Given the description of an element on the screen output the (x, y) to click on. 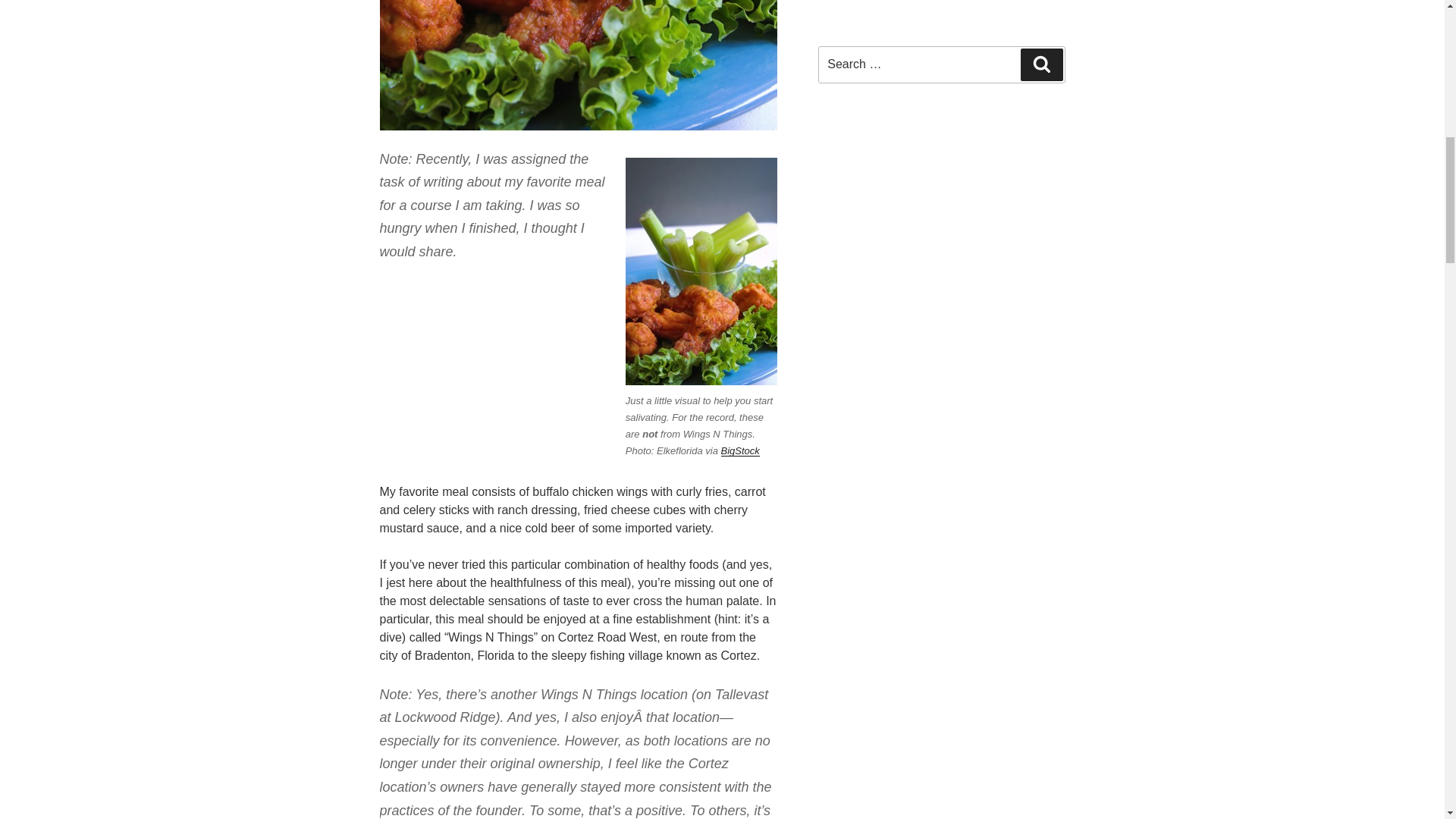
BigStock (740, 450)
Search (1041, 64)
